Given the description of an element on the screen output the (x, y) to click on. 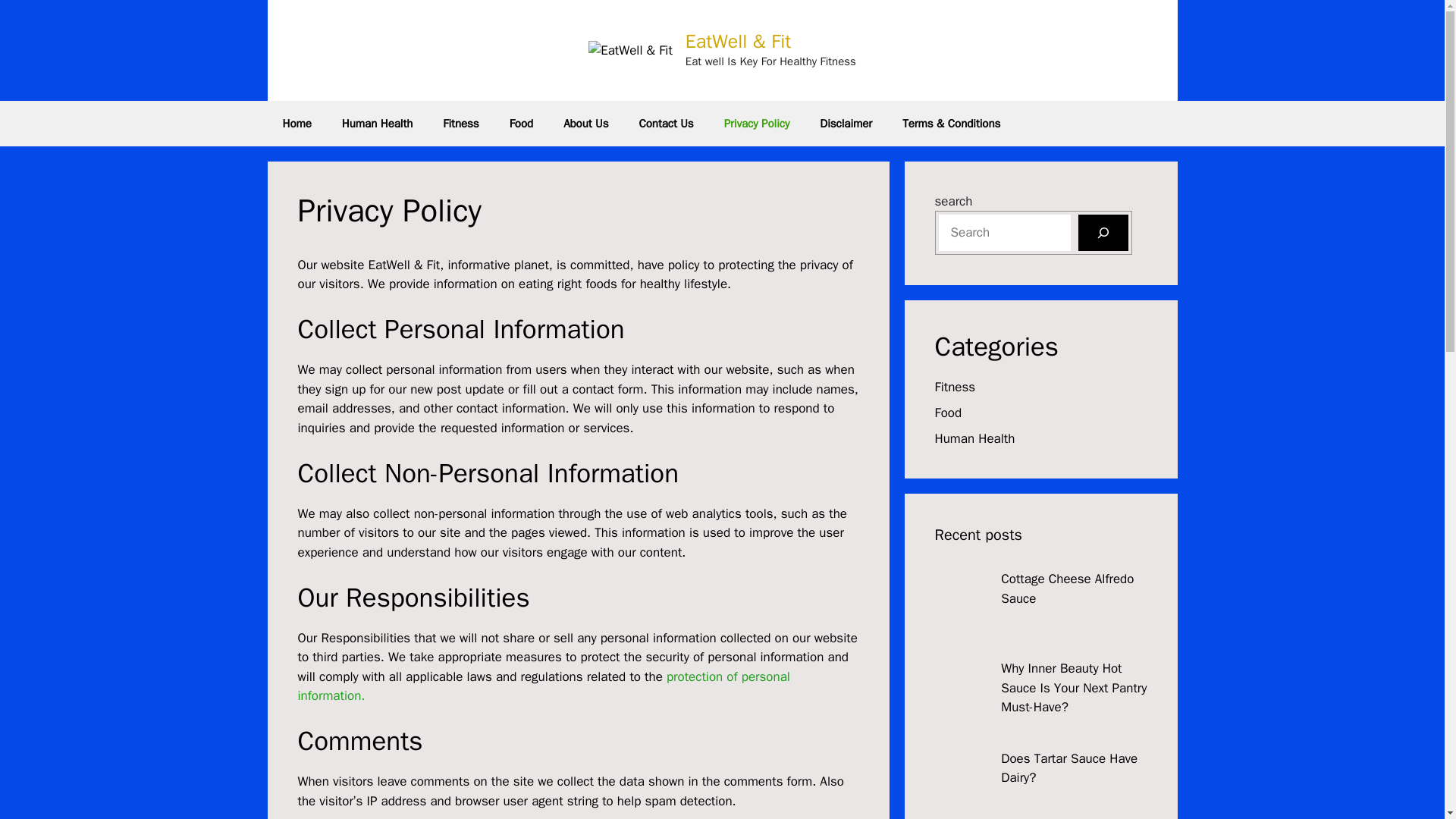
Human Health (974, 438)
Privacy Policy (757, 122)
About Us (585, 122)
Contact Us (665, 122)
Food (947, 412)
Food (521, 122)
Home (296, 122)
Fitness (954, 386)
Does Tartar Sauce Have Dairy? (1069, 768)
Why Inner Beauty Hot Sauce Is Your Next Pantry Must-Have? (1074, 687)
Cottage Cheese Alfredo Sauce (1067, 588)
protection of personal information. (543, 686)
Disclaimer (845, 122)
Human Health (377, 122)
Fitness (460, 122)
